Given the description of an element on the screen output the (x, y) to click on. 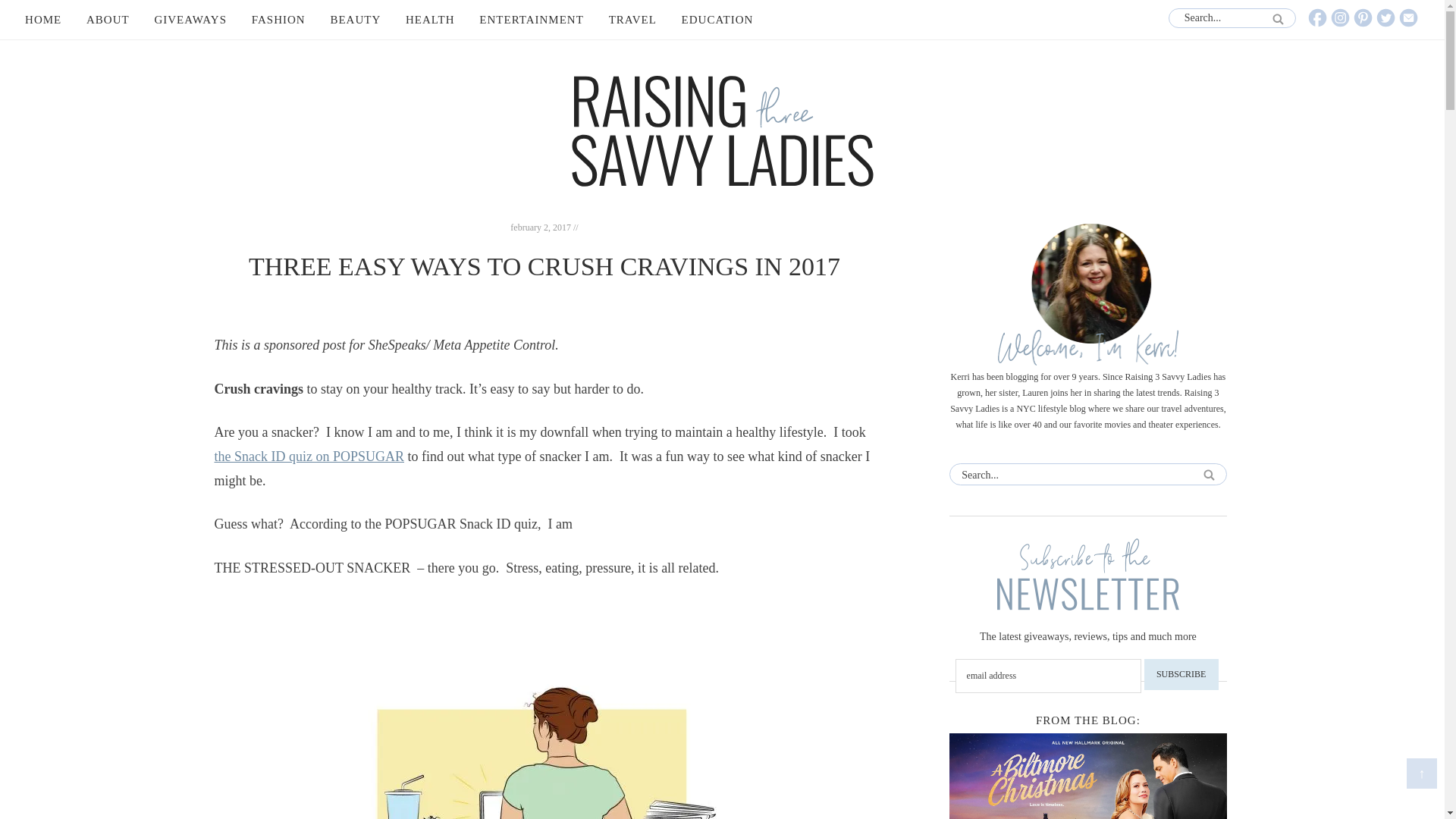
ENTERTAINMENT (531, 19)
ABOUT (107, 19)
EDUCATION (717, 19)
FASHION (278, 19)
HOME (42, 19)
RAISING THREE SAVVY LADIES (722, 131)
TRAVEL (632, 19)
the Snack ID quiz on POPSUGAR (309, 456)
Subscribe (1181, 674)
BEAUTY (354, 19)
GIVEAWAYS (189, 19)
HEALTH (429, 19)
